Given the description of an element on the screen output the (x, y) to click on. 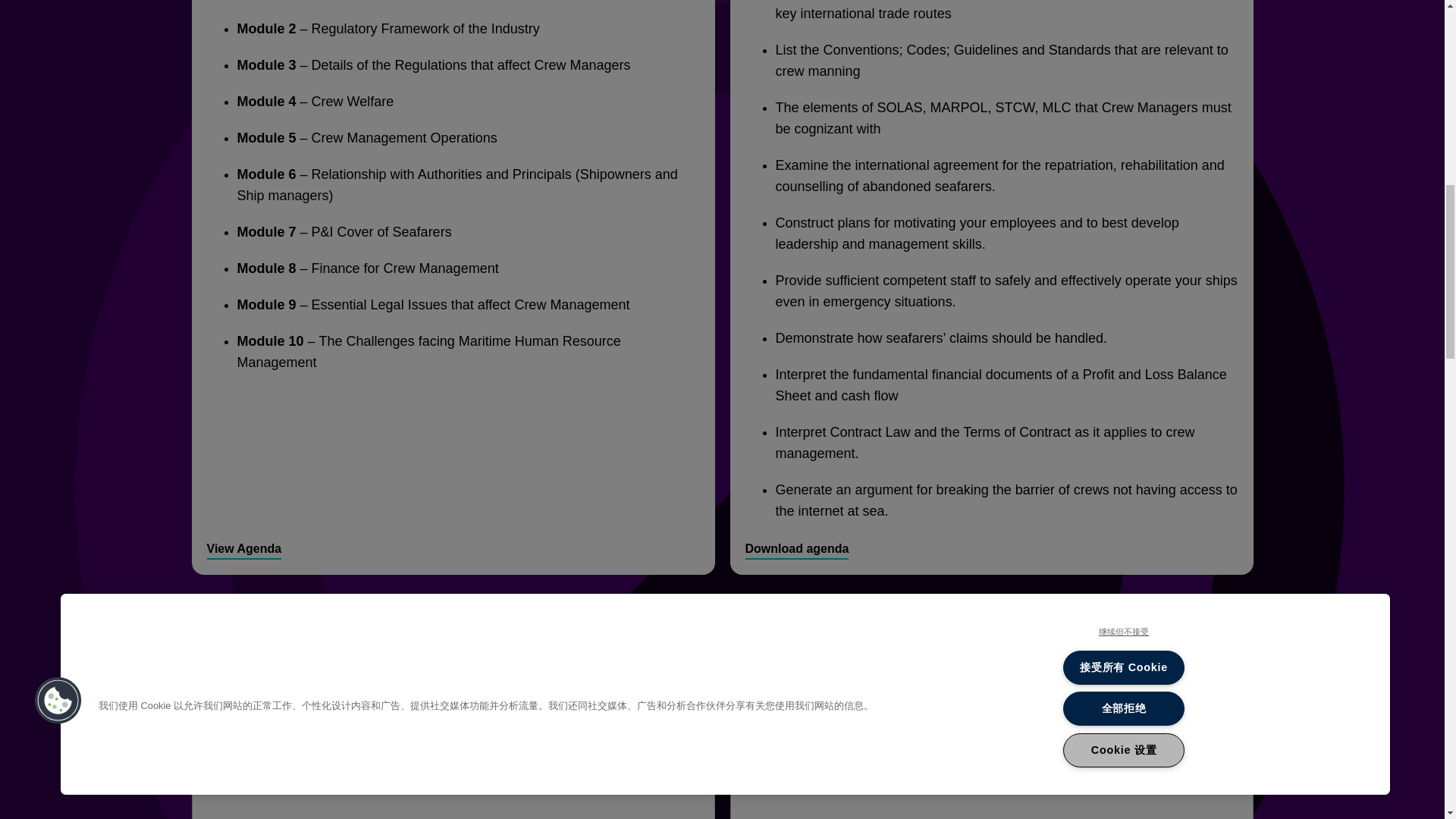
View Agenda (243, 549)
Download agenda (796, 549)
